Given the description of an element on the screen output the (x, y) to click on. 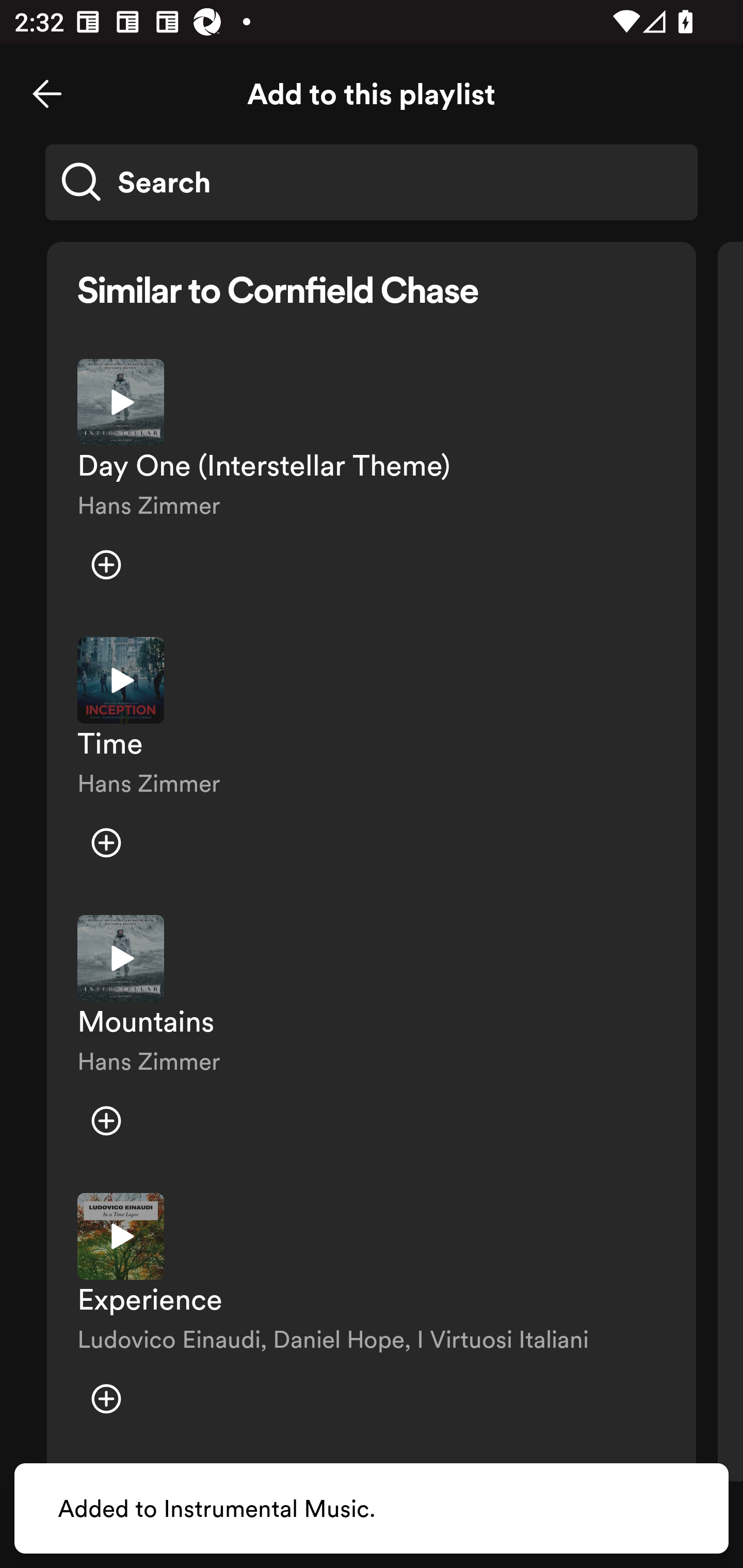
Close (46, 93)
Search (371, 181)
Play preview (120, 402)
Add item (106, 565)
Play preview Time Hans Zimmer Add item (371, 761)
Play preview (120, 680)
Add item (106, 842)
Play preview Mountains Hans Zimmer Add item (371, 1039)
Play preview (120, 958)
Add item (106, 1120)
Play preview (120, 1236)
Add item (106, 1398)
